Given the description of an element on the screen output the (x, y) to click on. 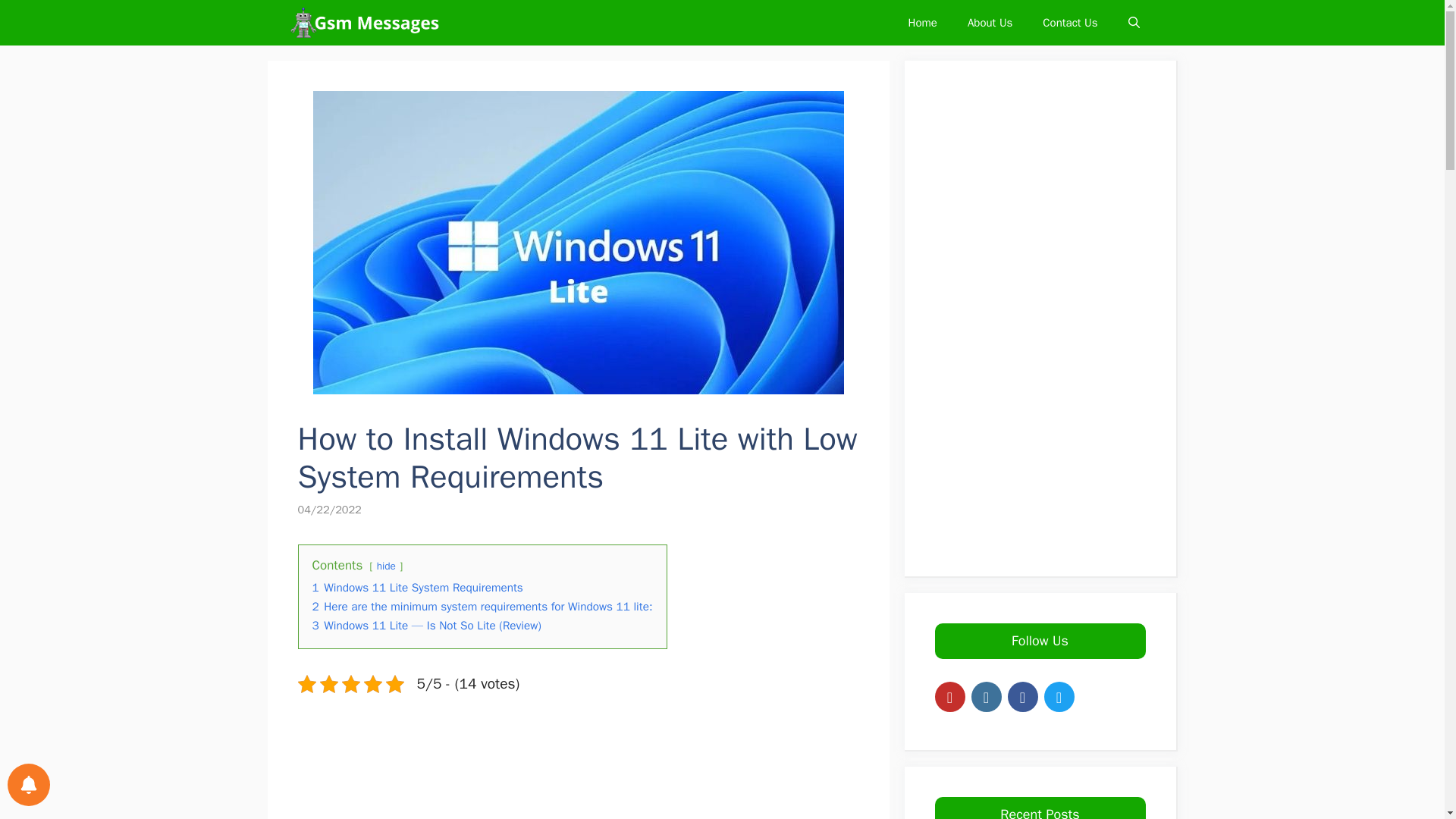
1 Windows 11 Lite System Requirements (417, 587)
Home (922, 22)
Gsm Messages (365, 22)
Contact Us (1069, 22)
About Us (989, 22)
hide (386, 565)
Notifications preferences (28, 783)
Advertisement (585, 769)
